Given the description of an element on the screen output the (x, y) to click on. 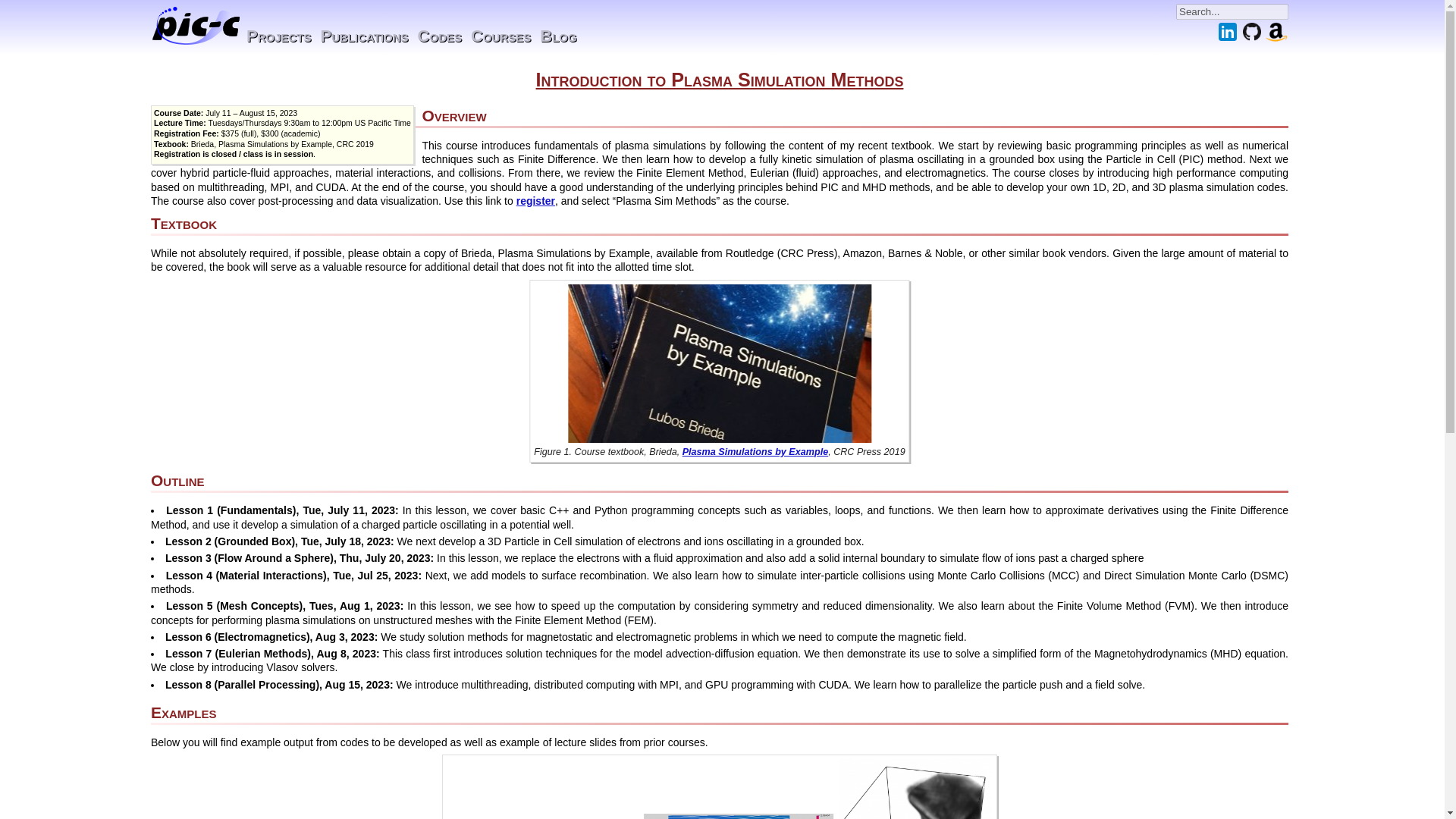
Scientific computing and plasma physics blog (558, 36)
Plasma Simulations by Example (755, 451)
Projects (278, 36)
Blog (558, 36)
Summary of current and past projects (278, 36)
Codes (439, 36)
Info about our online plasma simulation courses (500, 36)
register (535, 200)
Publications (364, 36)
Search... (1232, 11)
Listing of our simulation codes (439, 36)
Papers and Books (364, 36)
Courses (500, 36)
